Given the description of an element on the screen output the (x, y) to click on. 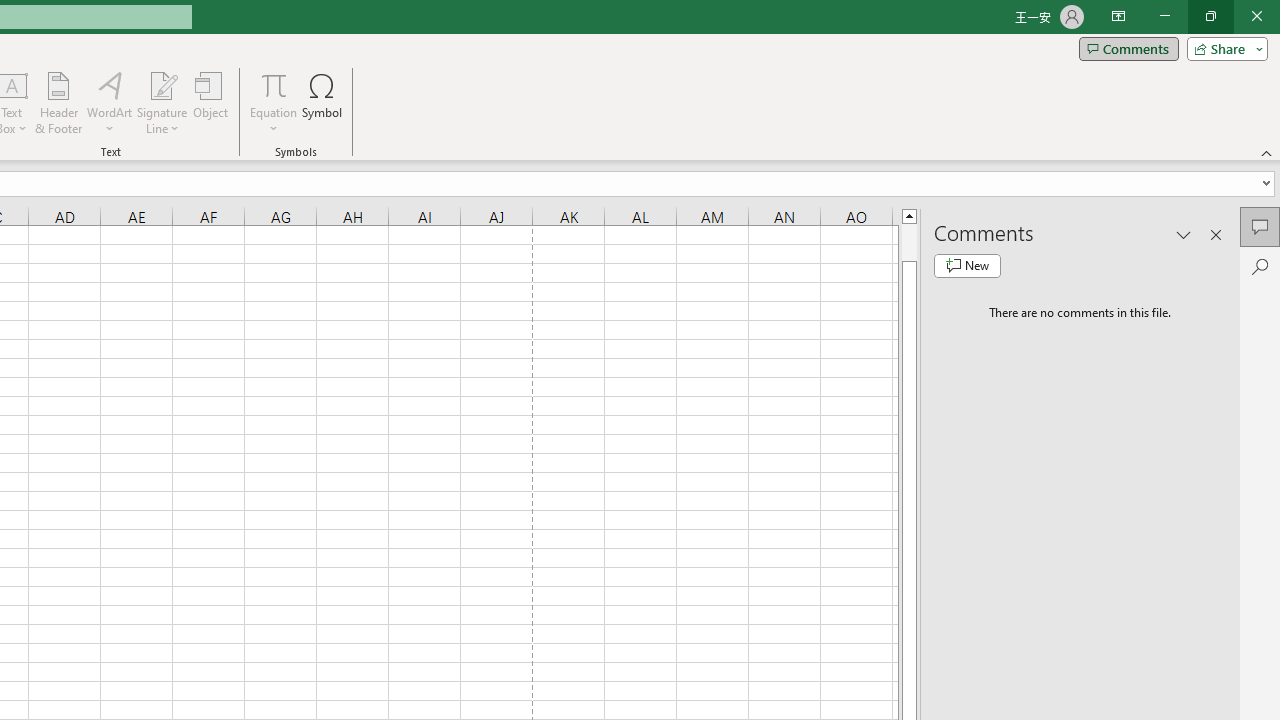
Equation (273, 102)
Header & Footer... (58, 102)
Equation (273, 84)
Signature Line (161, 102)
Signature Line (161, 84)
